Given the description of an element on the screen output the (x, y) to click on. 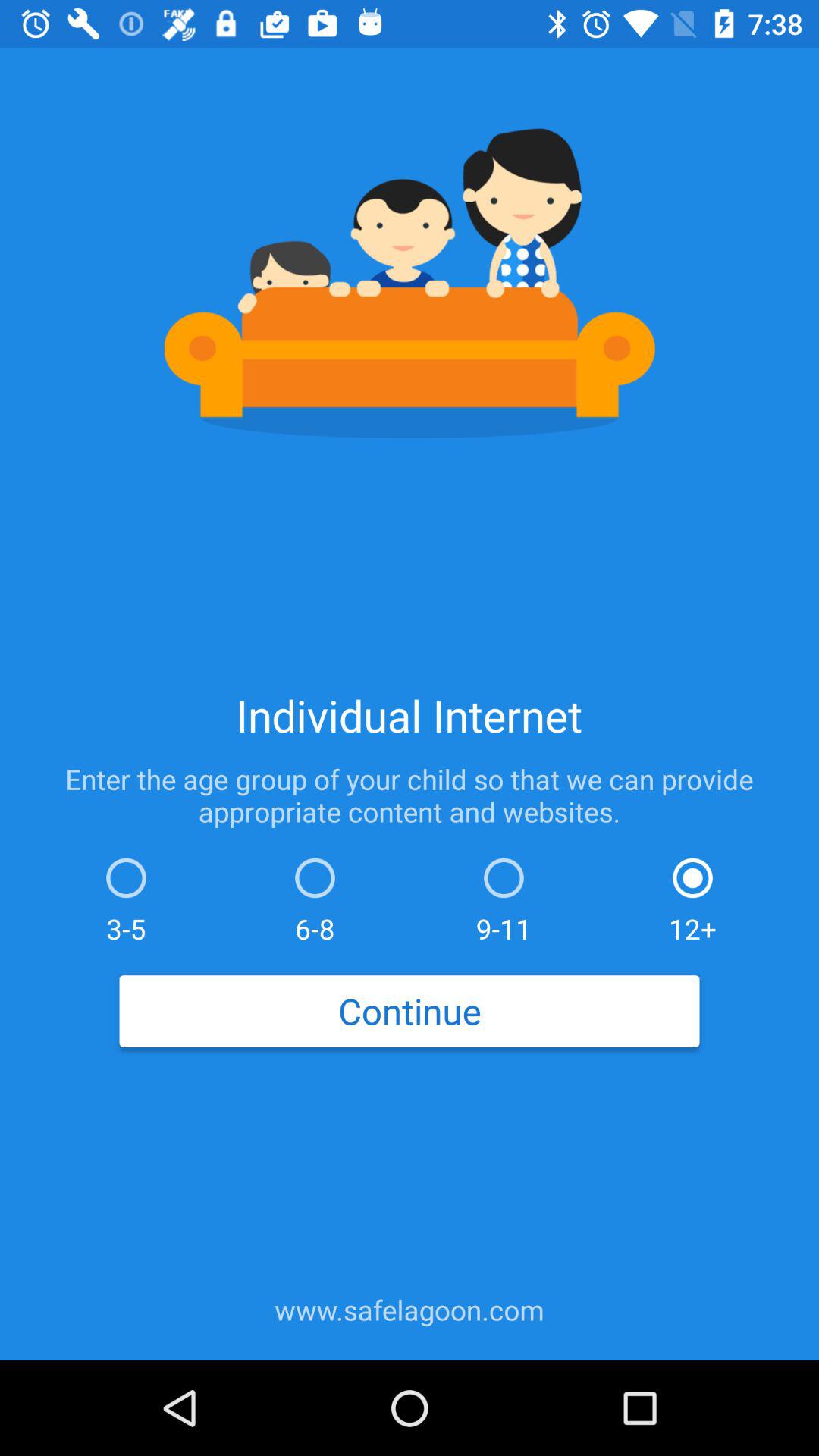
launch the icon above continue (503, 896)
